Given the description of an element on the screen output the (x, y) to click on. 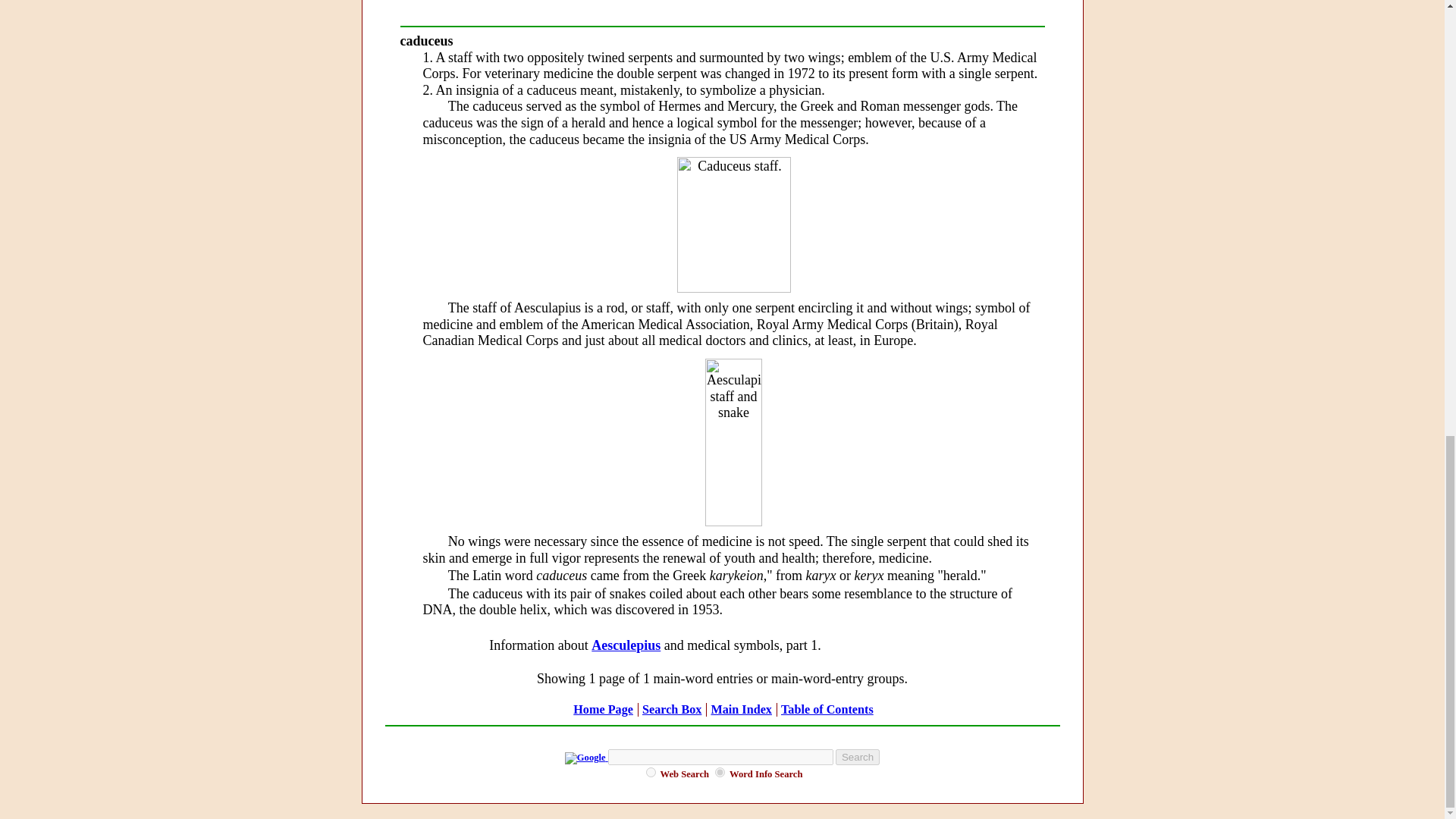
Search (857, 756)
Aesculepius (626, 645)
Home Page (603, 709)
Search Box (671, 709)
Main Index (740, 709)
Table of Contents (826, 709)
Search (857, 756)
